Given the description of an element on the screen output the (x, y) to click on. 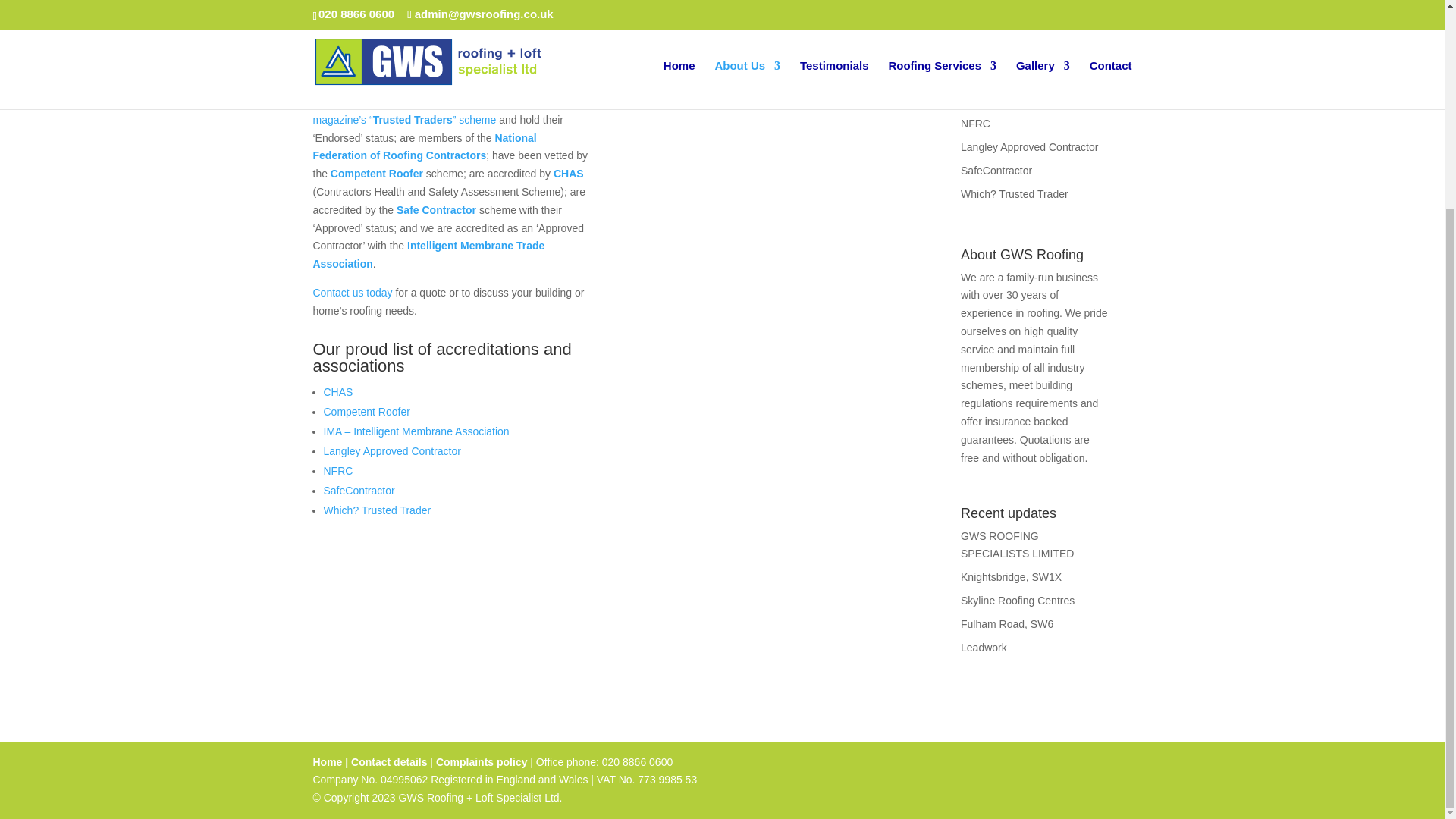
Safe Contractor (436, 209)
Competent Roofer (366, 411)
National Federation of Roofing Contractors (424, 146)
Competent Roofer (376, 173)
Contact us today (352, 292)
Langley Approved Contractor (391, 451)
CHAS (568, 173)
CHAS (337, 391)
Intelligent Membrane Trade Association (428, 254)
